Given the description of an element on the screen output the (x, y) to click on. 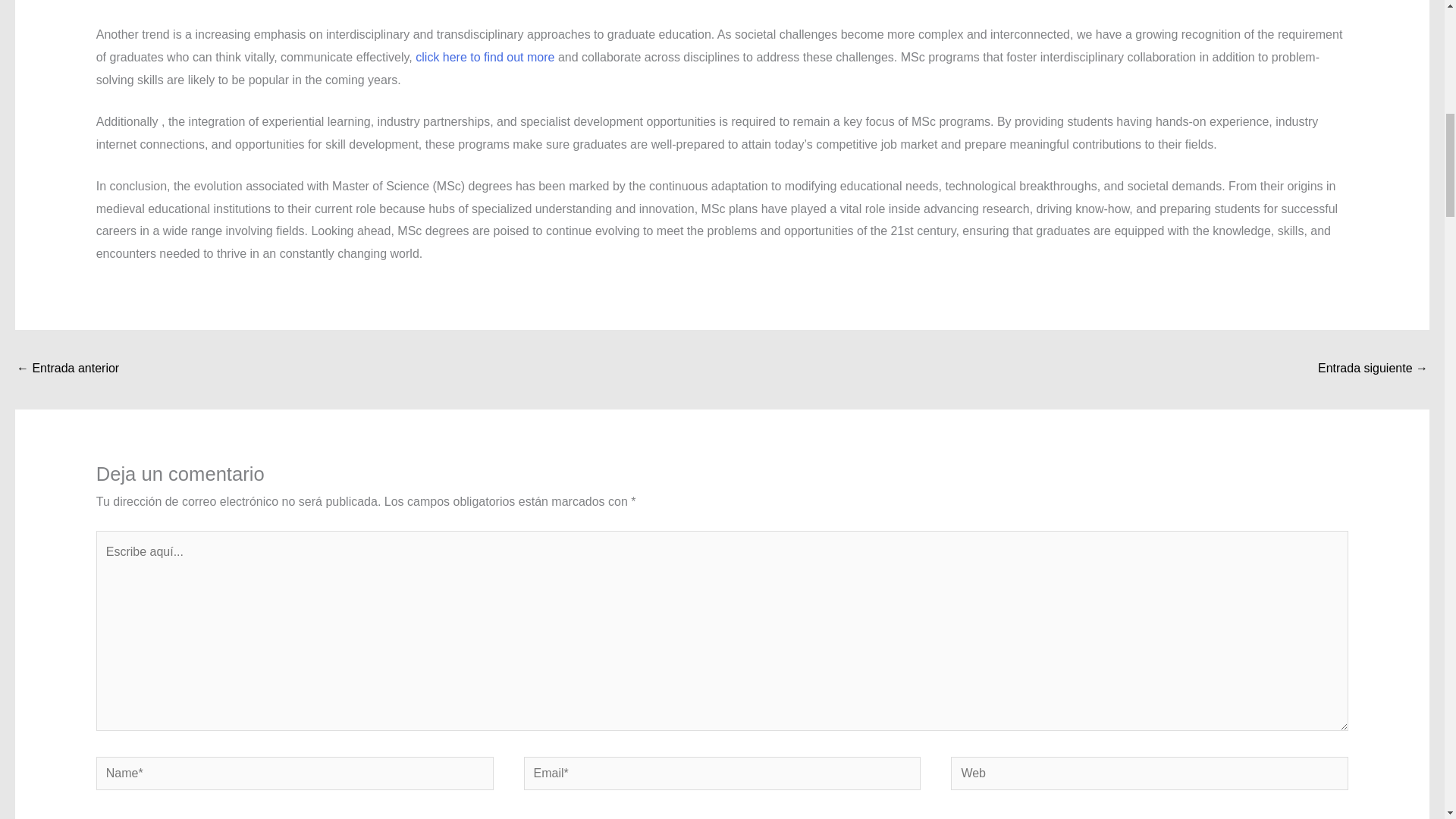
click here to find out more (484, 56)
Rent A Analysis Paper Author For Your Writing Projects (67, 369)
